Given the description of an element on the screen output the (x, y) to click on. 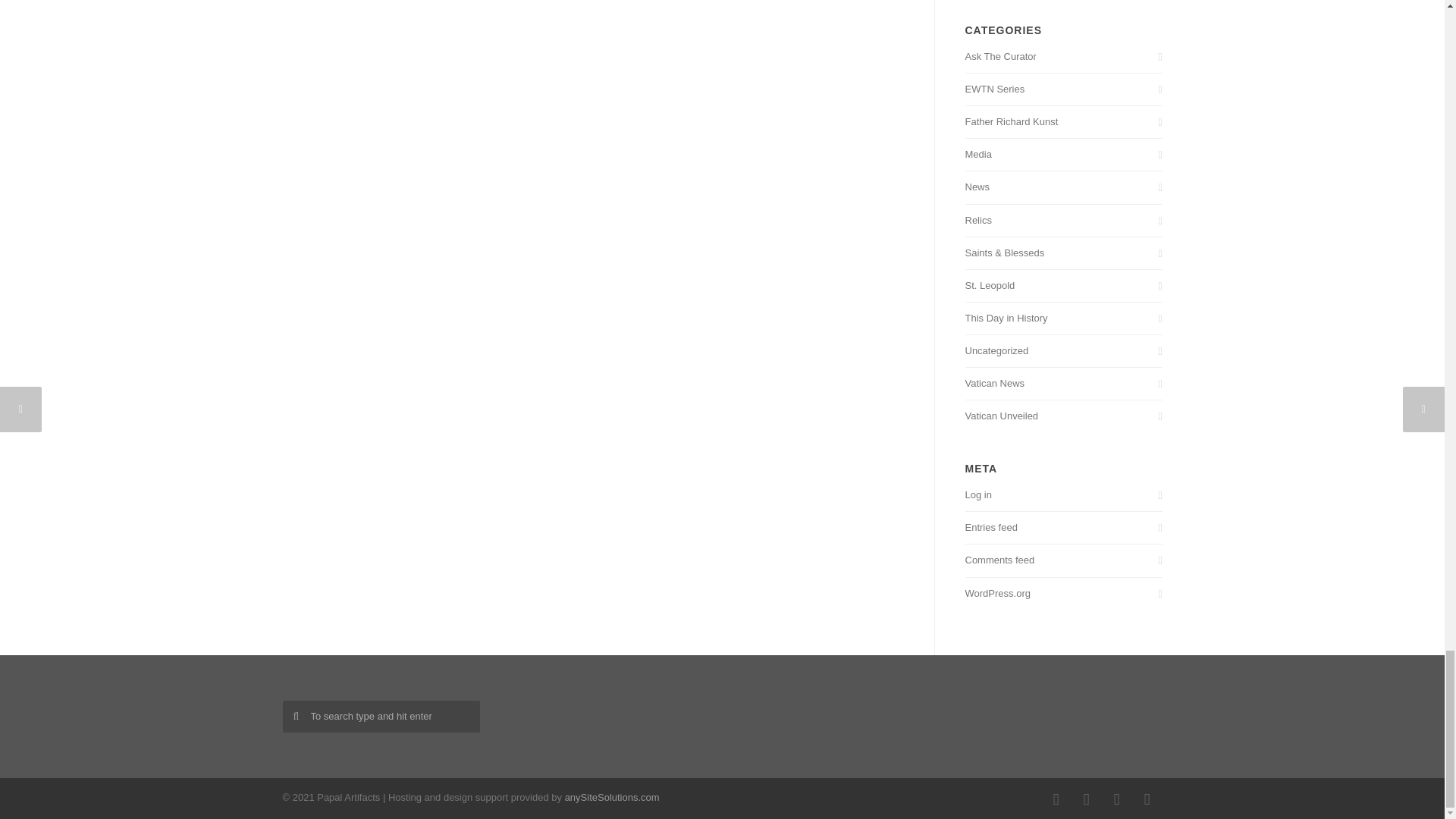
YouTube (1146, 798)
RSS (1115, 798)
To search type and hit enter (380, 717)
Facebook (1055, 798)
